Given the description of an element on the screen output the (x, y) to click on. 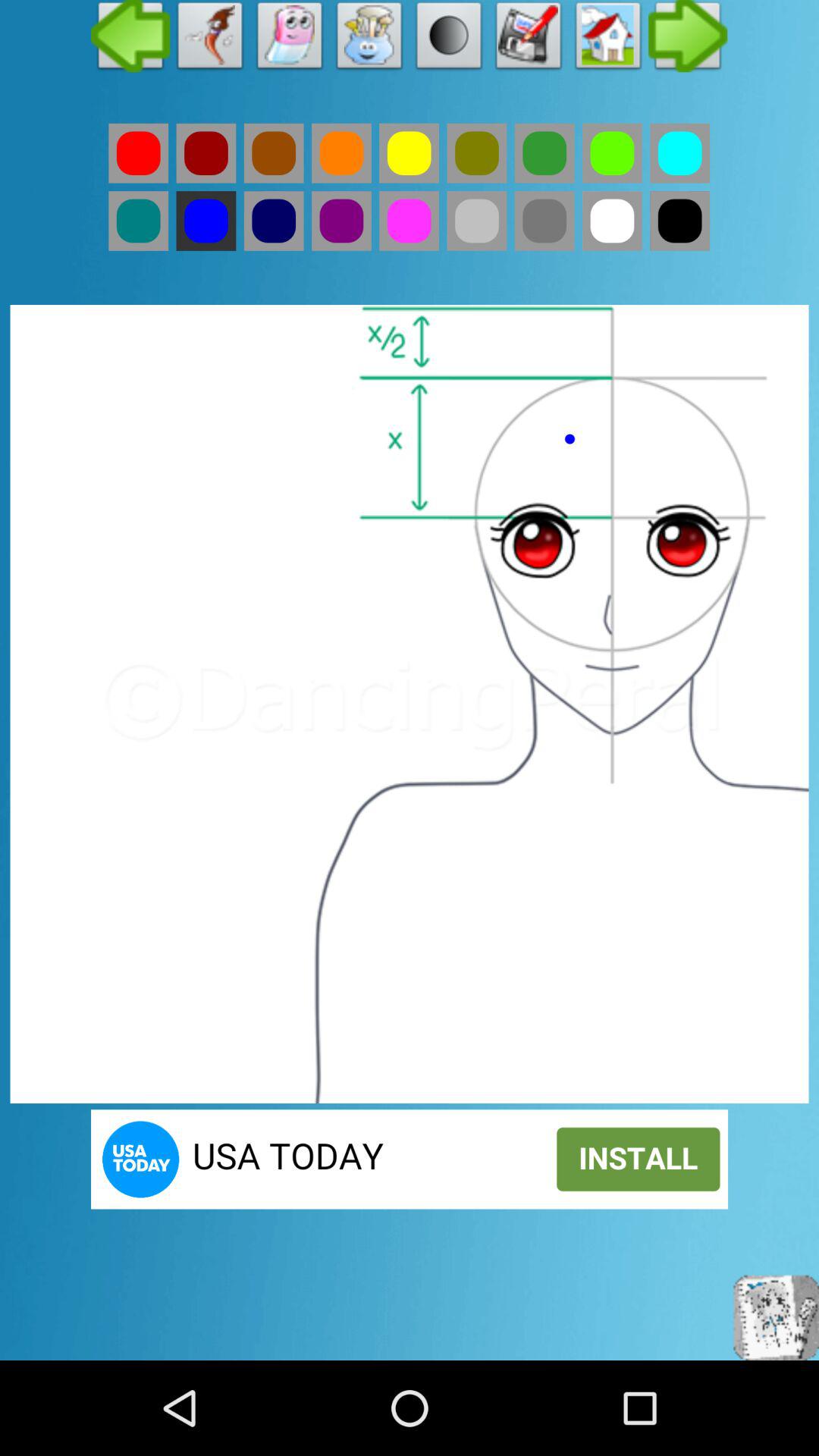
select color (544, 220)
